Given the description of an element on the screen output the (x, y) to click on. 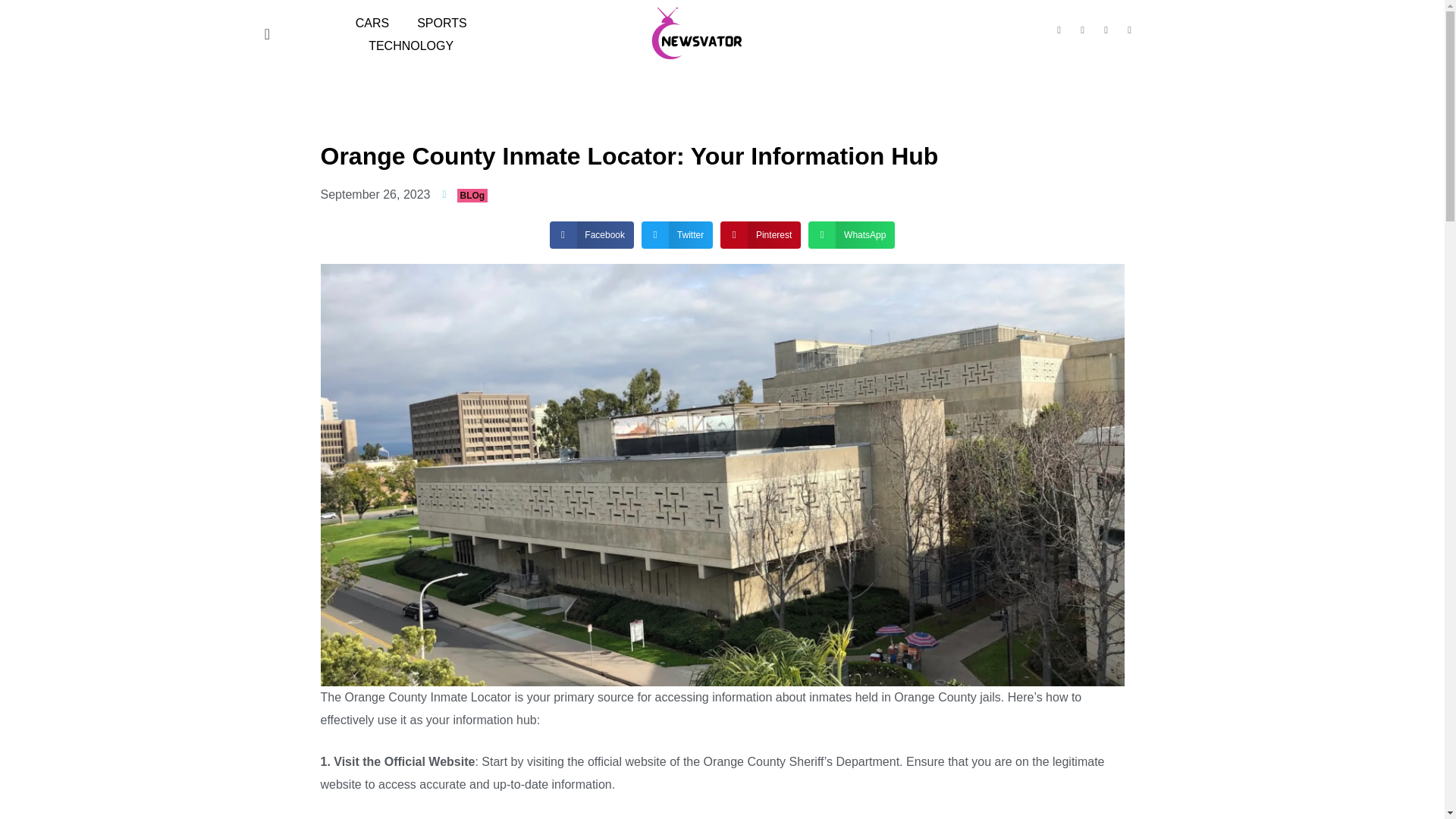
CARS (363, 23)
SPORTS (434, 23)
September 26, 2023 (374, 194)
TECHNOLOGY (402, 46)
BLOg (472, 195)
